Given the description of an element on the screen output the (x, y) to click on. 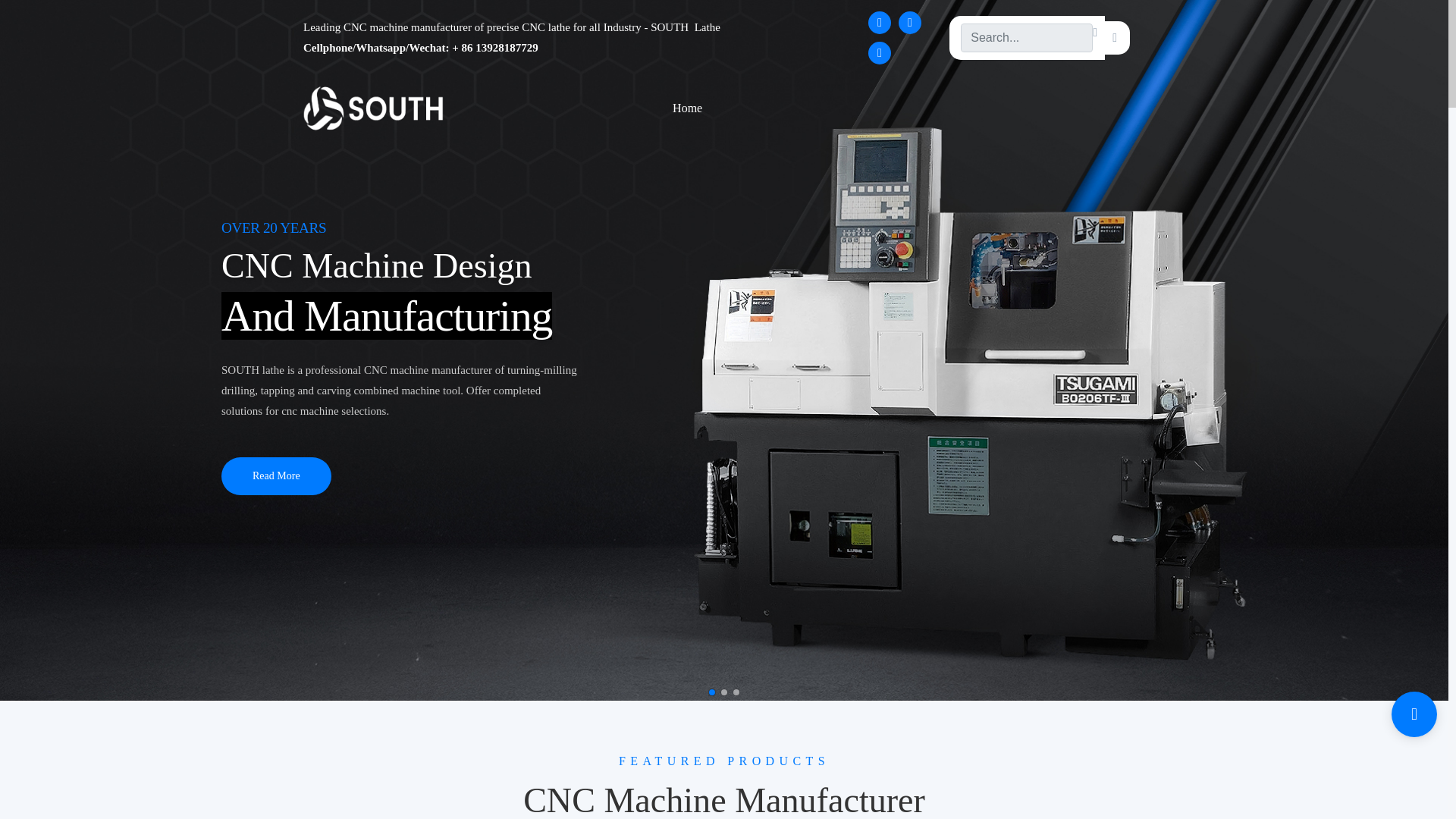
OVER 20 YEARS (386, 315)
OVER 20 YEARS (398, 389)
OVER 20 YEARS (273, 227)
OVER 20 YEARS (380, 265)
Home (686, 107)
OVER 20 YEARS (273, 227)
